Given the description of an element on the screen output the (x, y) to click on. 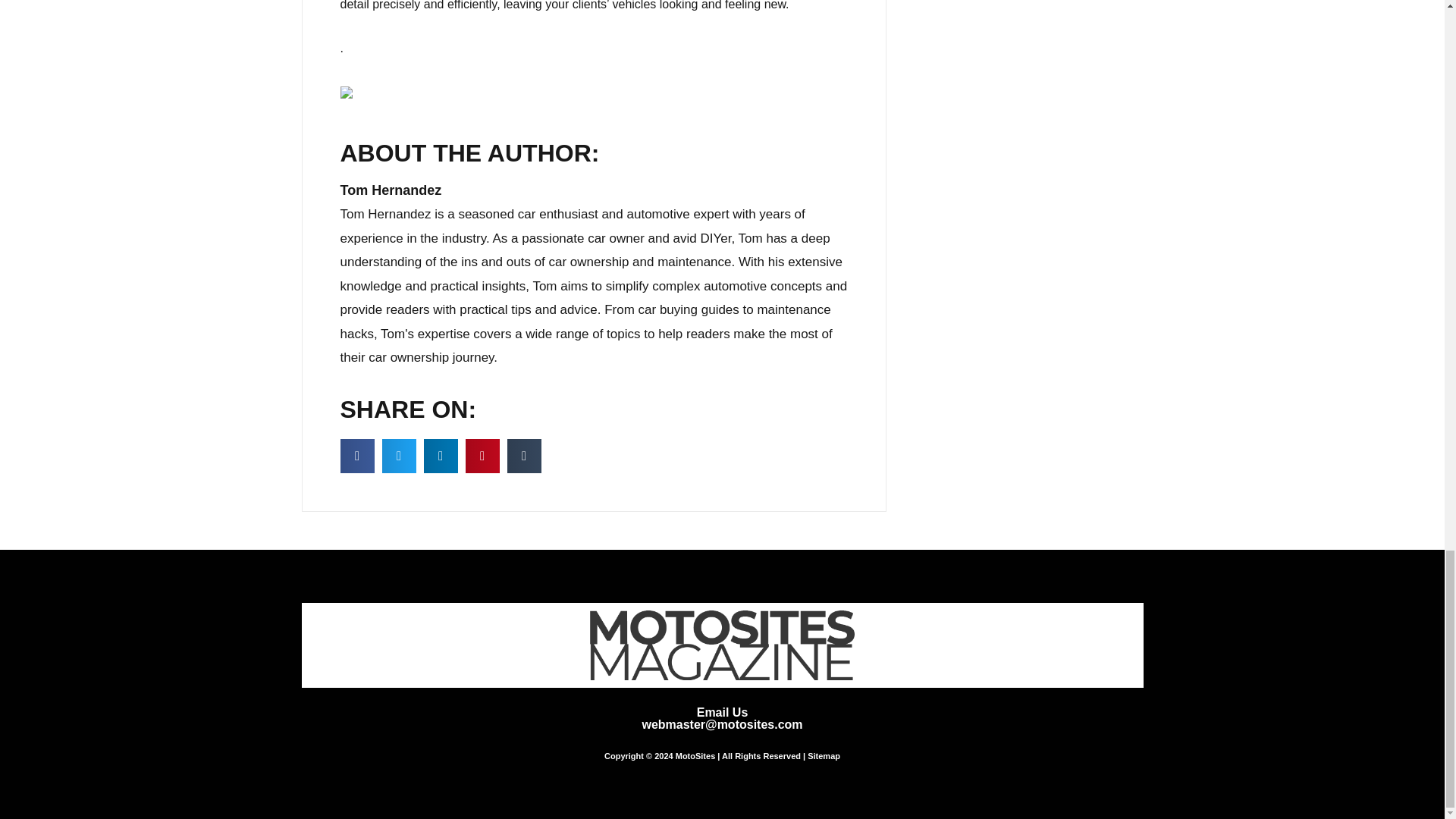
Sitemap (824, 755)
